Given the description of an element on the screen output the (x, y) to click on. 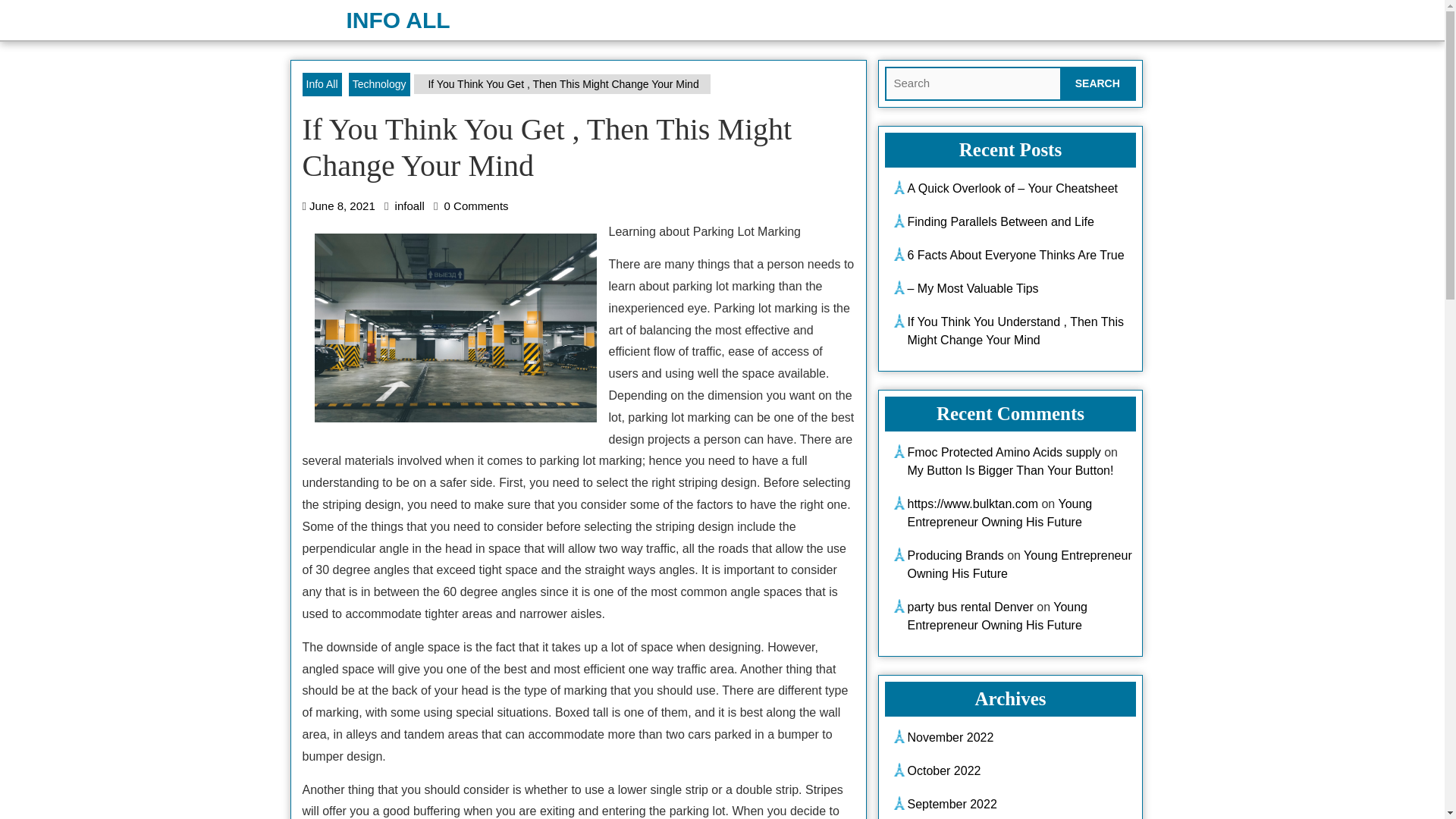
Finding Parallels Between and Life (1000, 221)
Fmoc Protected Amino Acids supply (1003, 451)
Young Entrepreneur Owning His Future (999, 512)
October 2022 (943, 770)
Info All (320, 84)
Technology (379, 84)
INFO ALL (397, 19)
My Button Is Bigger Than Your Button! (1010, 470)
6 Facts About Everyone Thinks Are True (1015, 254)
